Given the description of an element on the screen output the (x, y) to click on. 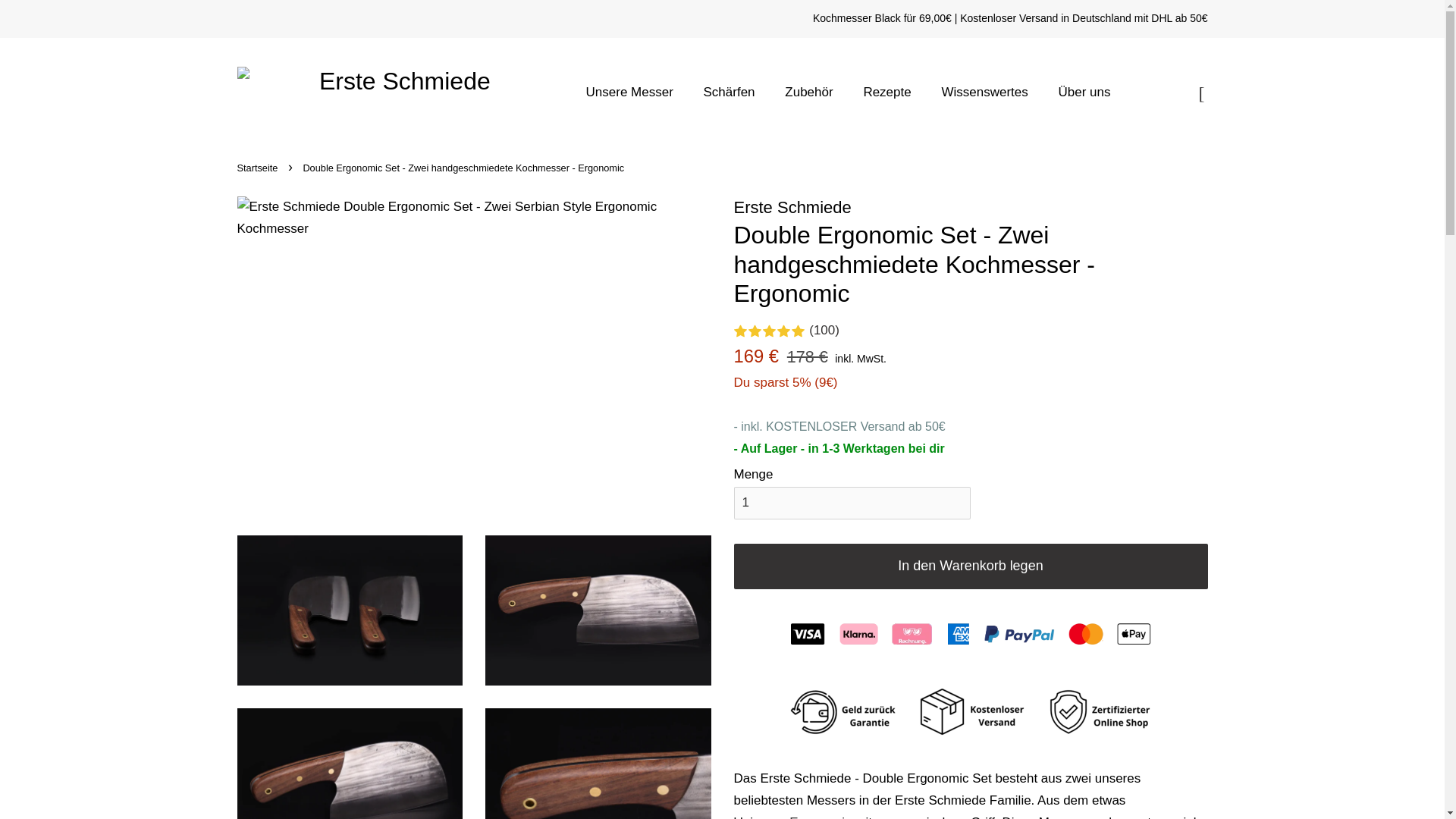
Zum Erste Schmiede Ergonomic Kochmesser (819, 816)
In den Warenkorb legen (970, 565)
Wissenswertes (986, 92)
Startseite (258, 167)
1 (852, 502)
Unsere Messer (637, 92)
Ergonomic (819, 816)
Rezepte (888, 92)
